Given the description of an element on the screen output the (x, y) to click on. 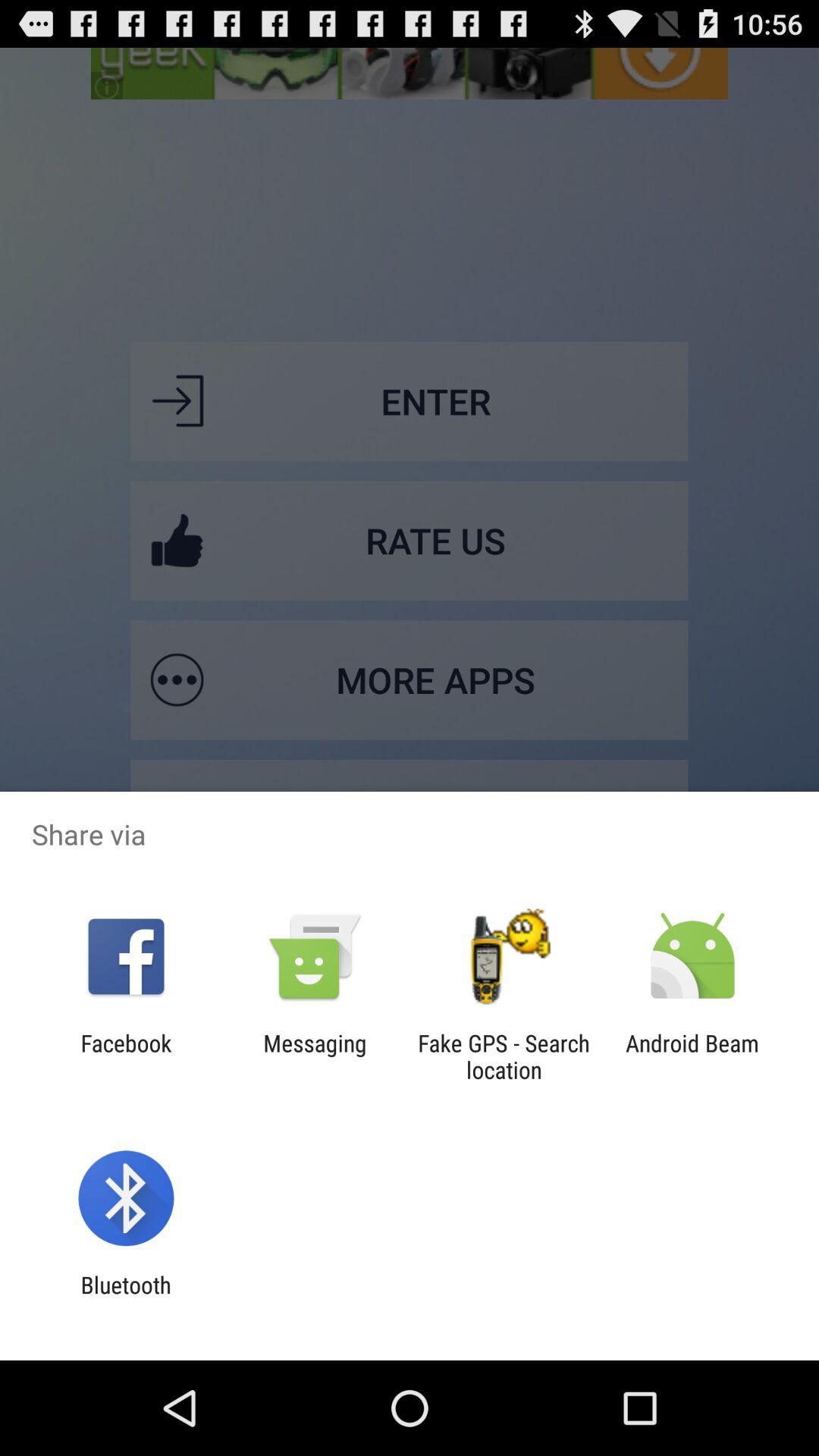
scroll until facebook item (125, 1056)
